Given the description of an element on the screen output the (x, y) to click on. 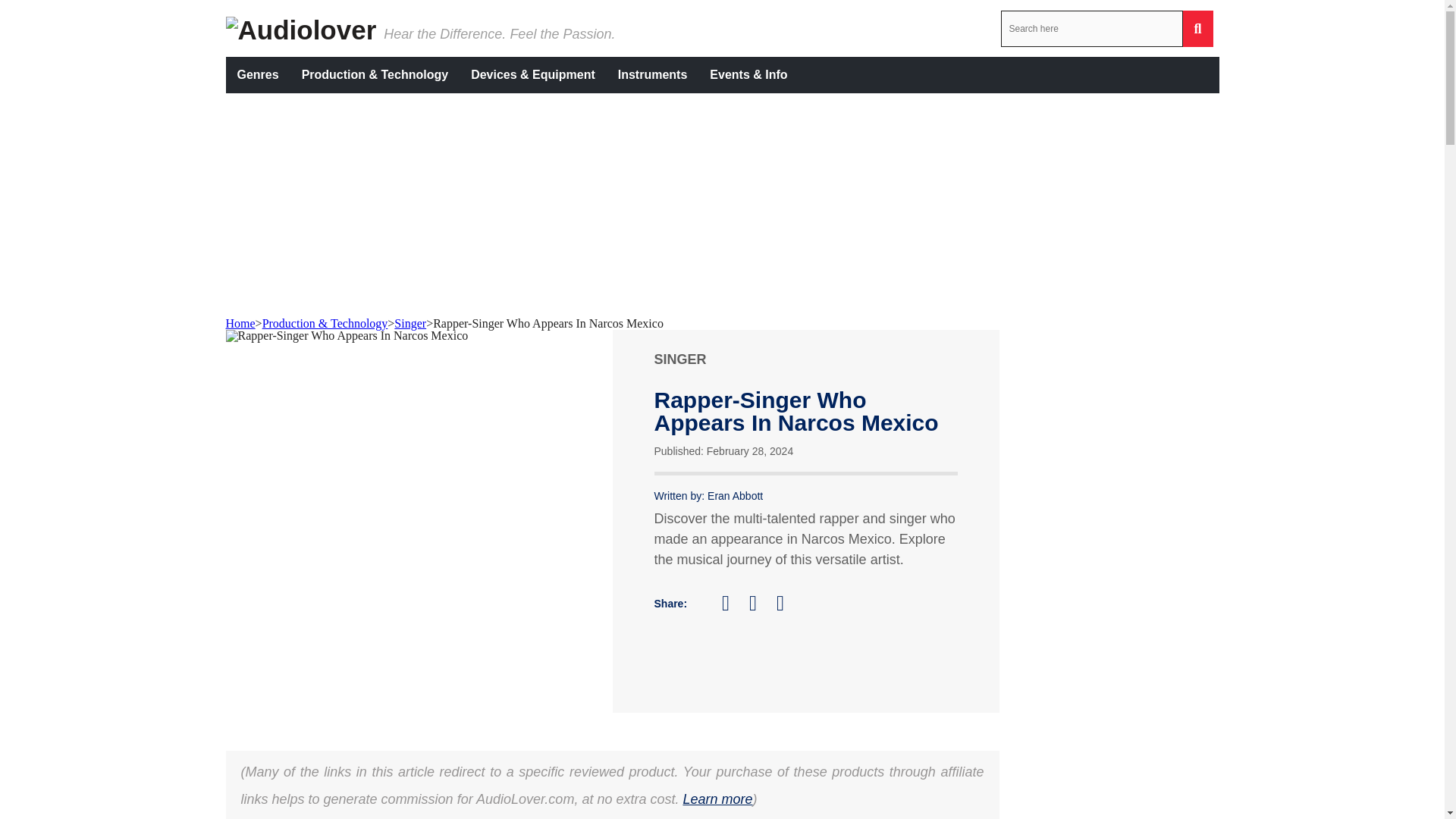
Share on Facebook (705, 607)
Share on Twitter (732, 603)
Share on WhatsApp (786, 603)
Genres (257, 74)
Share on Pinterest (759, 603)
